Given the description of an element on the screen output the (x, y) to click on. 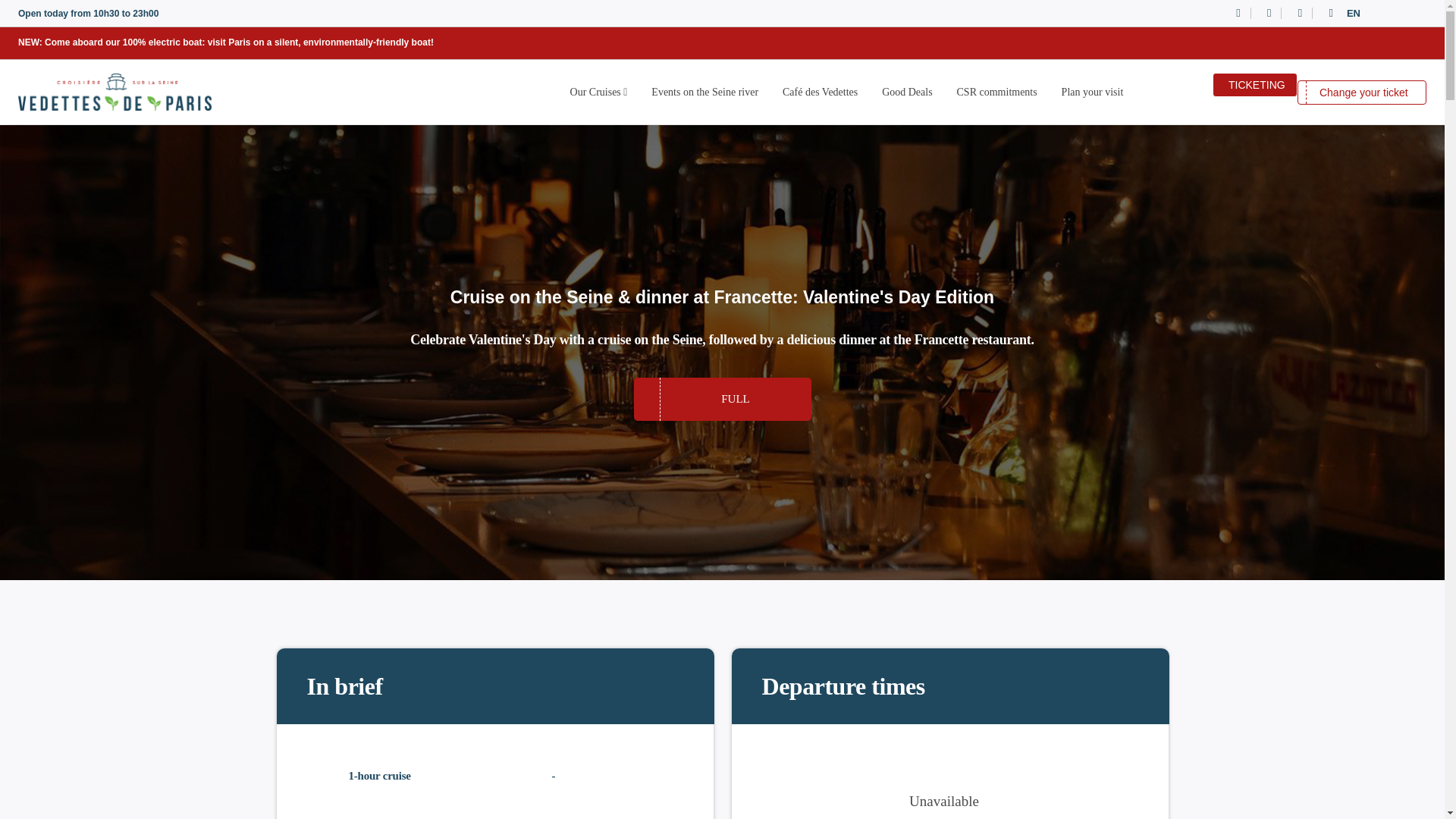
TICKETING (1254, 84)
Our Cruises (599, 92)
Good Deals (906, 92)
Plan your visit (1092, 92)
CSR commitments (997, 92)
Change your ticket (1361, 92)
EN (1381, 13)
Events on the Seine river (704, 92)
